Given the description of an element on the screen output the (x, y) to click on. 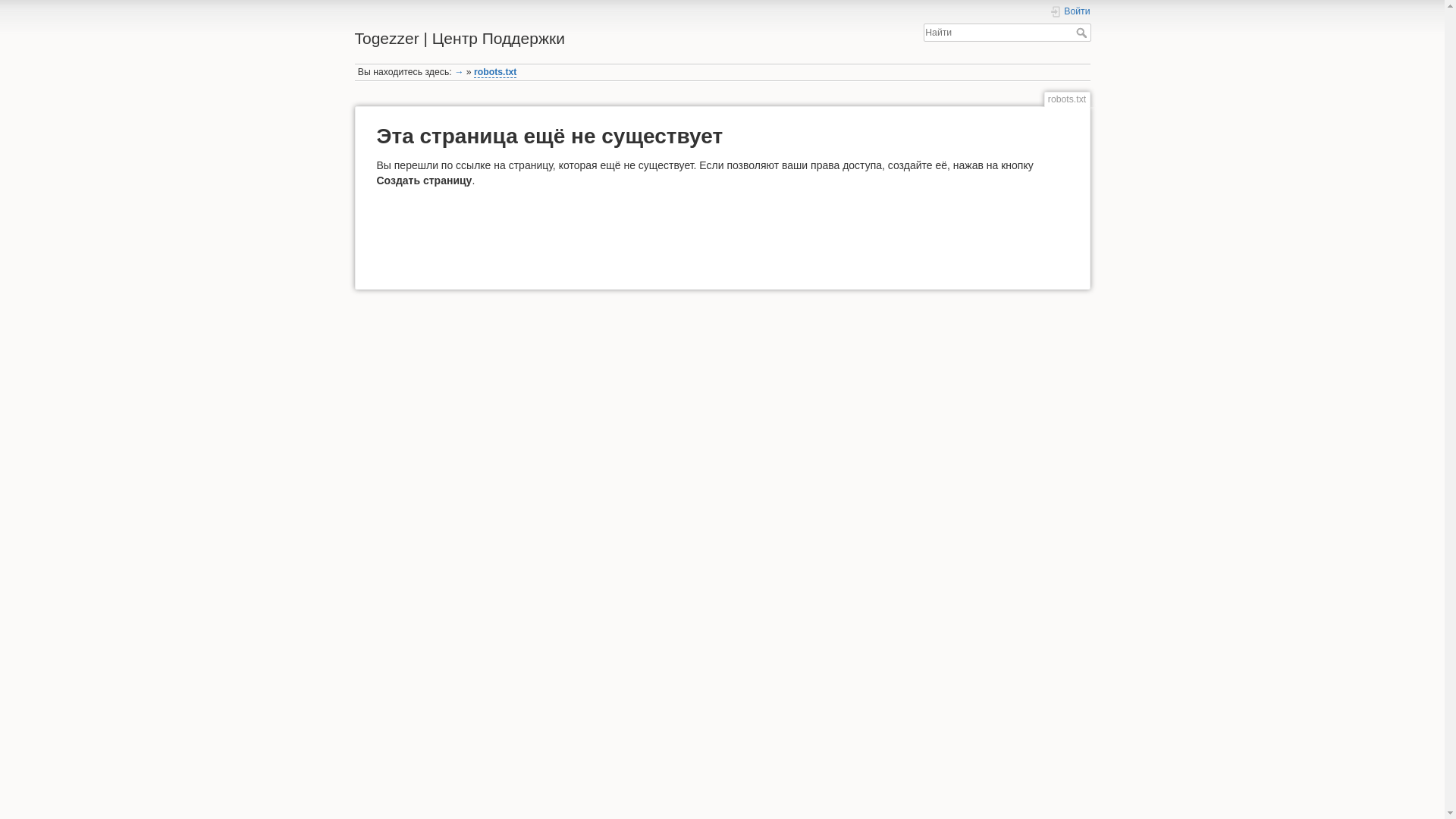
robots.txt Element type: text (494, 72)
[F] Element type: hover (1007, 32)
